Given the description of an element on the screen output the (x, y) to click on. 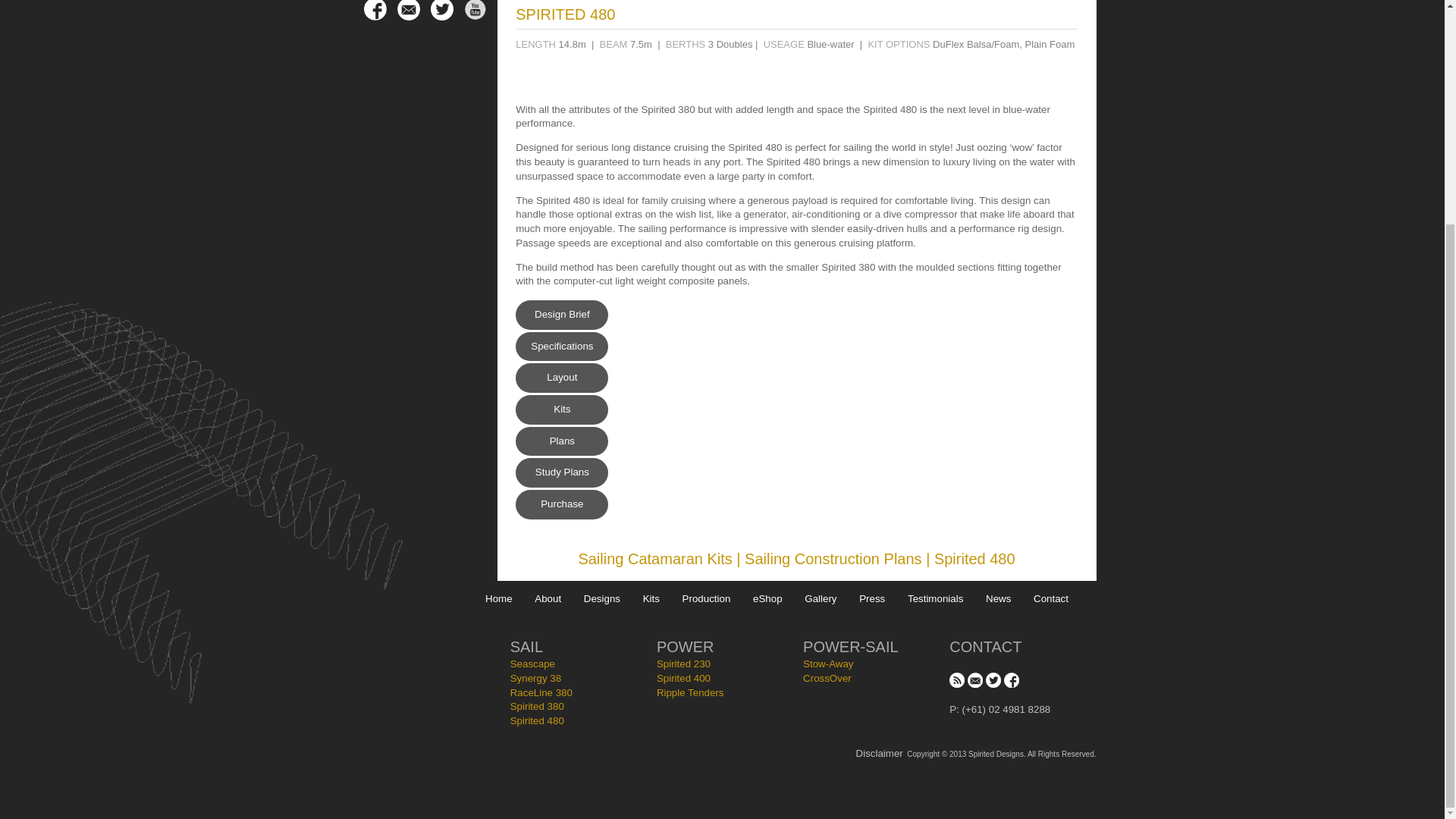
Design Brief (561, 315)
Specifications (561, 346)
Study Plans (561, 472)
Purchase (561, 504)
Plans (561, 441)
Layout (561, 378)
Kits (561, 409)
